Given the description of an element on the screen output the (x, y) to click on. 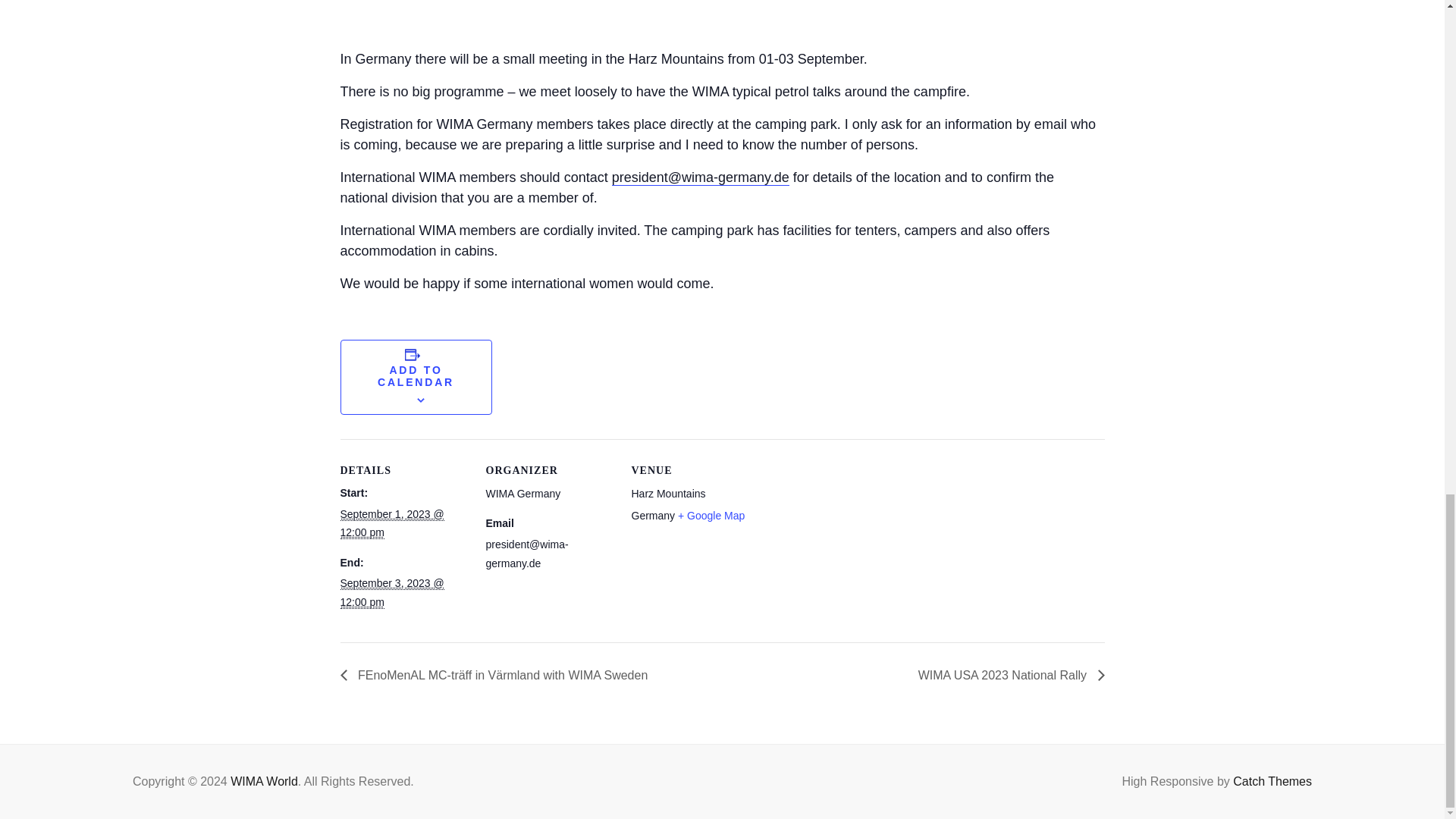
2023-09-03 (391, 593)
Click to view a Google Map (711, 515)
Google maps iframe displaying the address to Harz Mountains (856, 543)
2023-09-01 (391, 523)
